Given the description of an element on the screen output the (x, y) to click on. 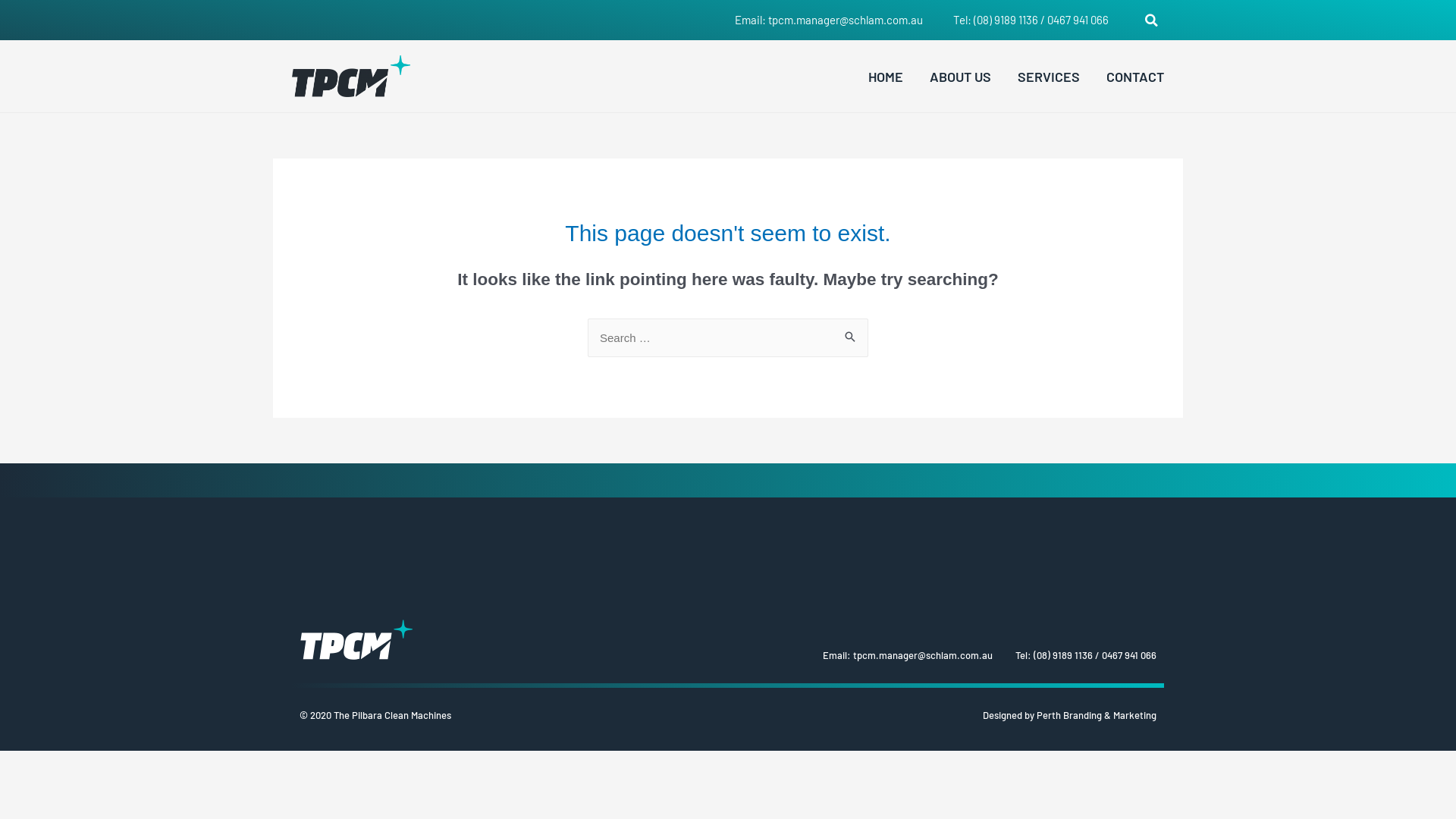
tpcm.manager@schlam.com.au Element type: text (922, 655)
HOME Element type: text (885, 76)
SERVICES Element type: text (1048, 76)
Search Element type: text (851, 338)
tpcm.manager@schlam.com.au Element type: text (845, 19)
Perth Branding & Marketing Element type: text (1096, 715)
0467 941 066 Element type: text (1128, 655)
(08) 9189 1136 Element type: text (1005, 19)
0467 941 066 Element type: text (1077, 19)
ABOUT US Element type: text (960, 76)
CONTACT Element type: text (1135, 76)
(08) 9189 1136 Element type: text (1062, 655)
